Given the description of an element on the screen output the (x, y) to click on. 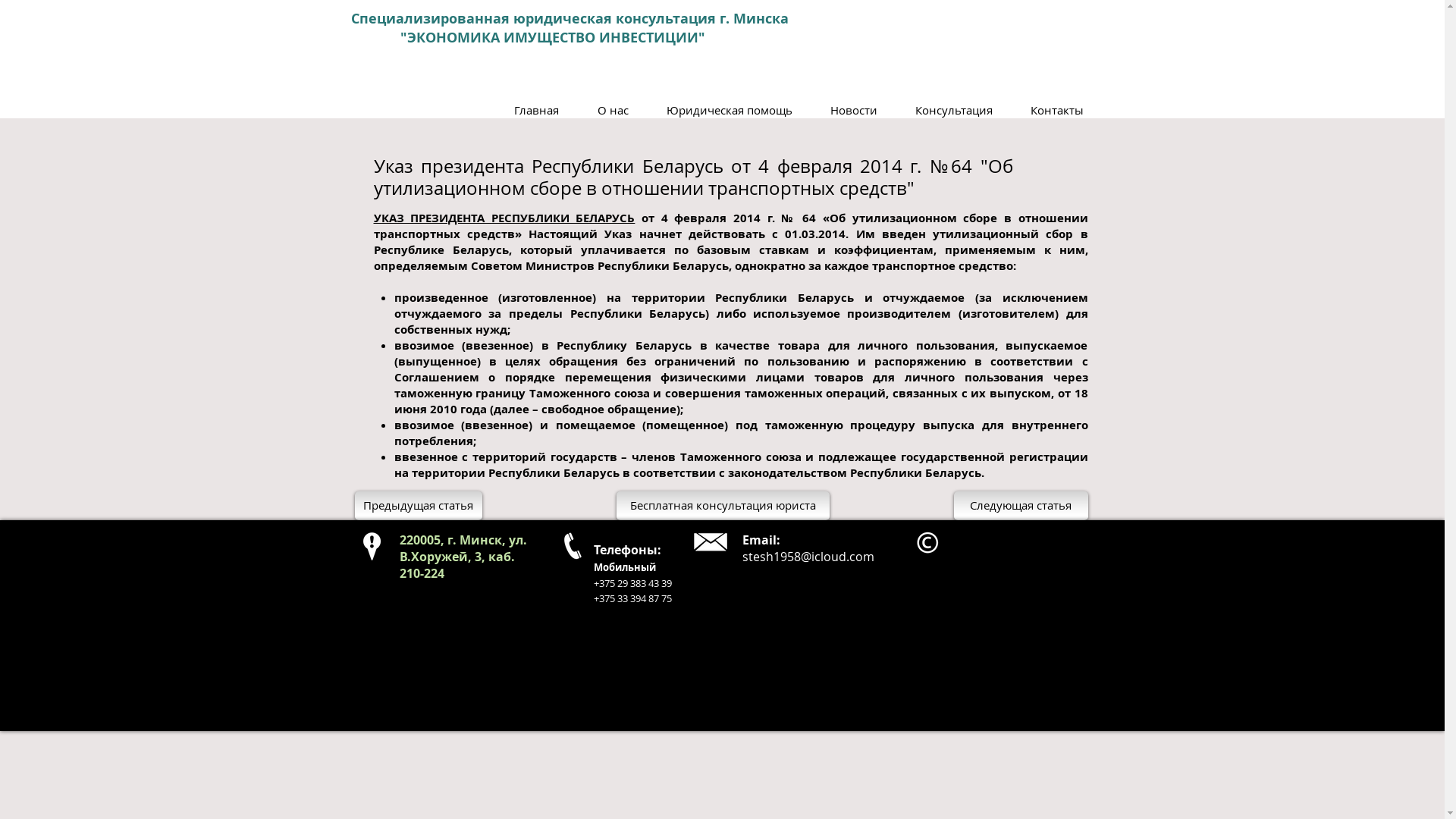
Embedded Content Element type: hover (991, 638)
stesh1958@icloud.com Element type: text (807, 556)
Embedded Content Element type: hover (1005, 20)
Embedded Content Element type: hover (820, 26)
+375 29 383 43 39 Element type: text (632, 581)
